Given the description of an element on the screen output the (x, y) to click on. 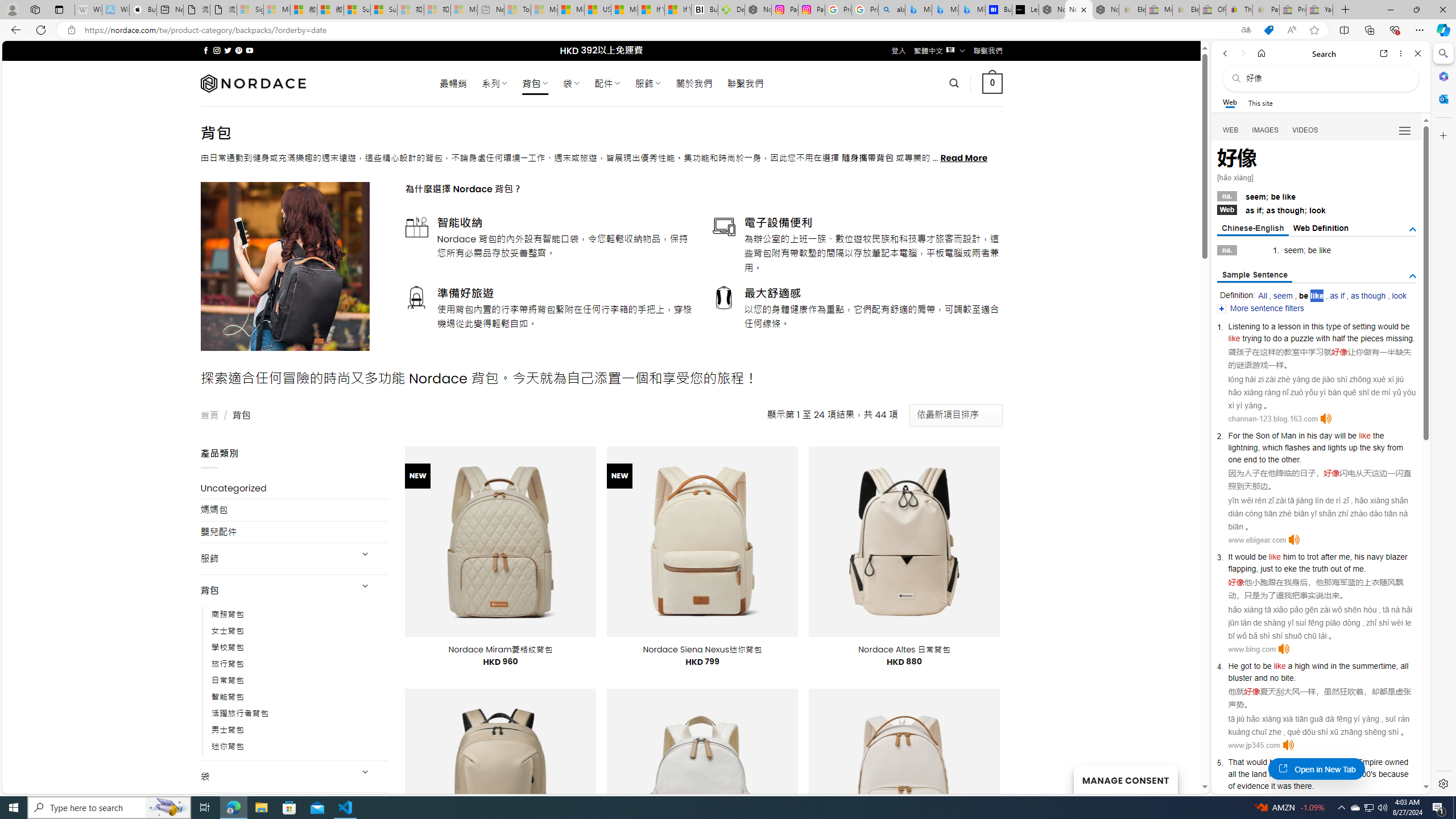
Yard, Garden & Outdoor Living - Sleeping (1319, 9)
Sign in to your Microsoft account - Sleeping (249, 9)
evidence (1253, 785)
